Given the description of an element on the screen output the (x, y) to click on. 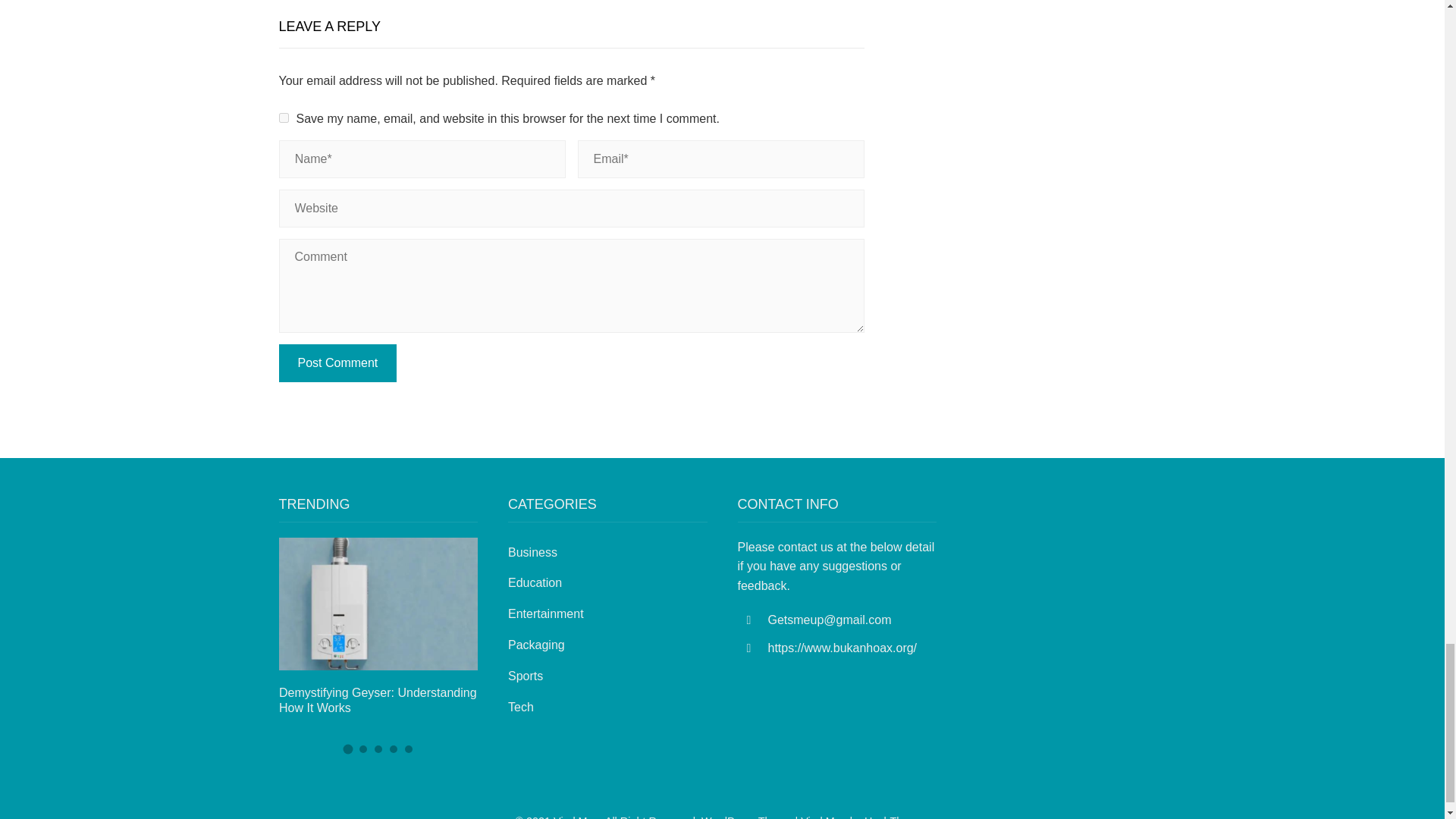
yes (283, 117)
Post Comment (338, 362)
Download Viral News (823, 816)
